Given the description of an element on the screen output the (x, y) to click on. 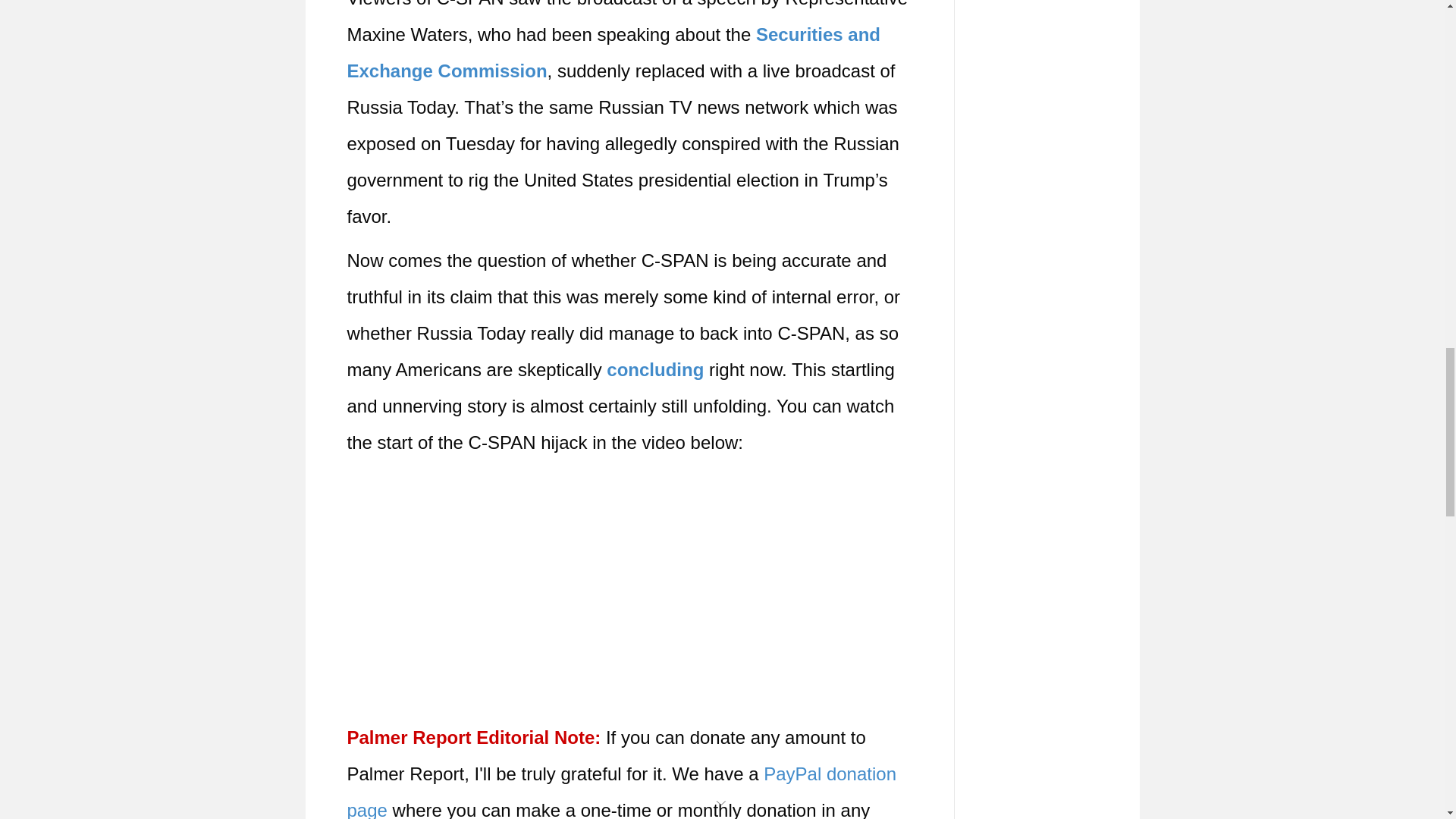
PayPal donation page (621, 791)
concluding (655, 369)
Securities and Exchange Commission (613, 52)
